Given the description of an element on the screen output the (x, y) to click on. 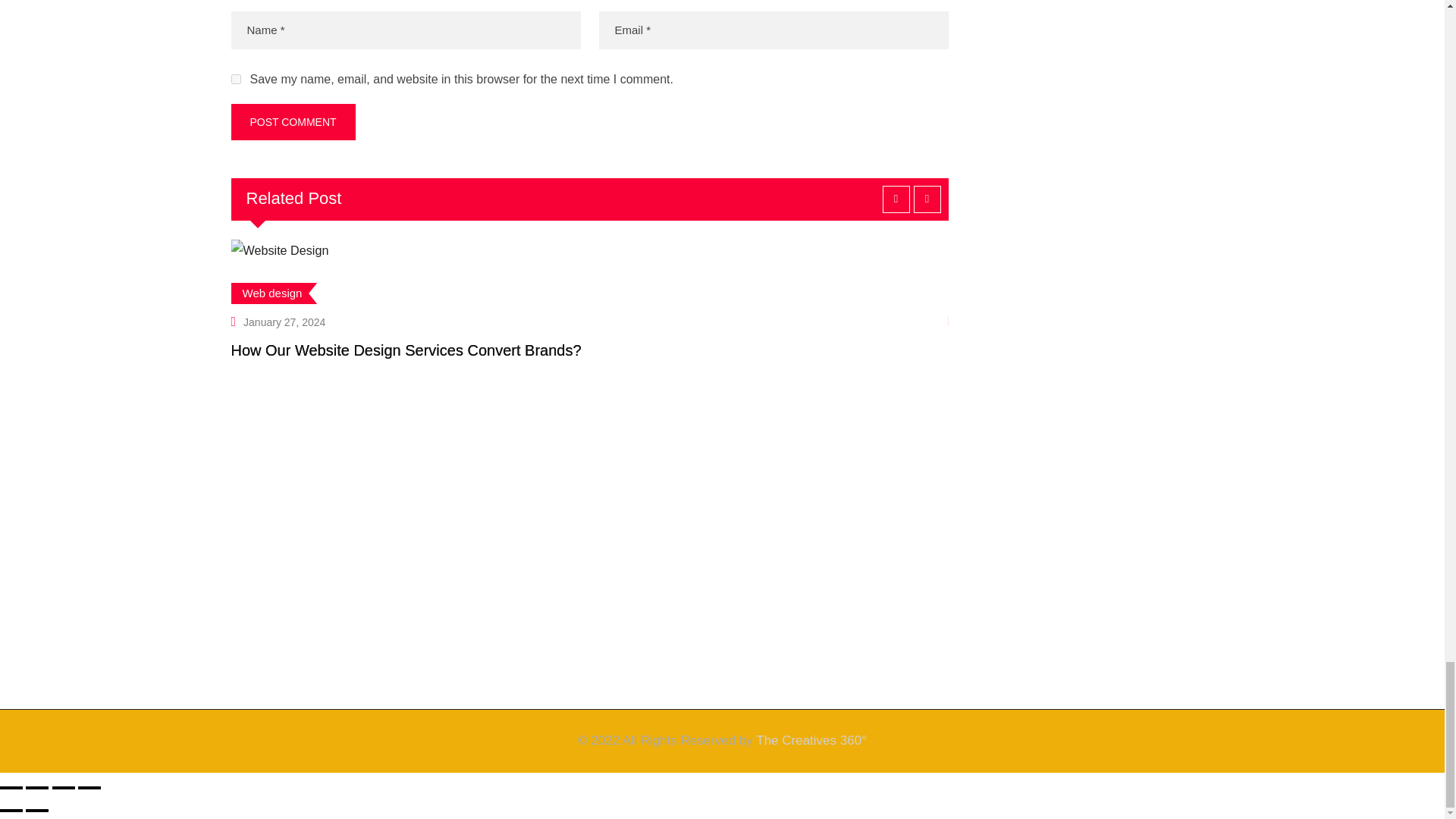
Web design (273, 292)
Post Comment (292, 122)
Post Comment (292, 122)
yes (235, 79)
How Our Website Design Services Convert Brands? (405, 350)
